Given the description of an element on the screen output the (x, y) to click on. 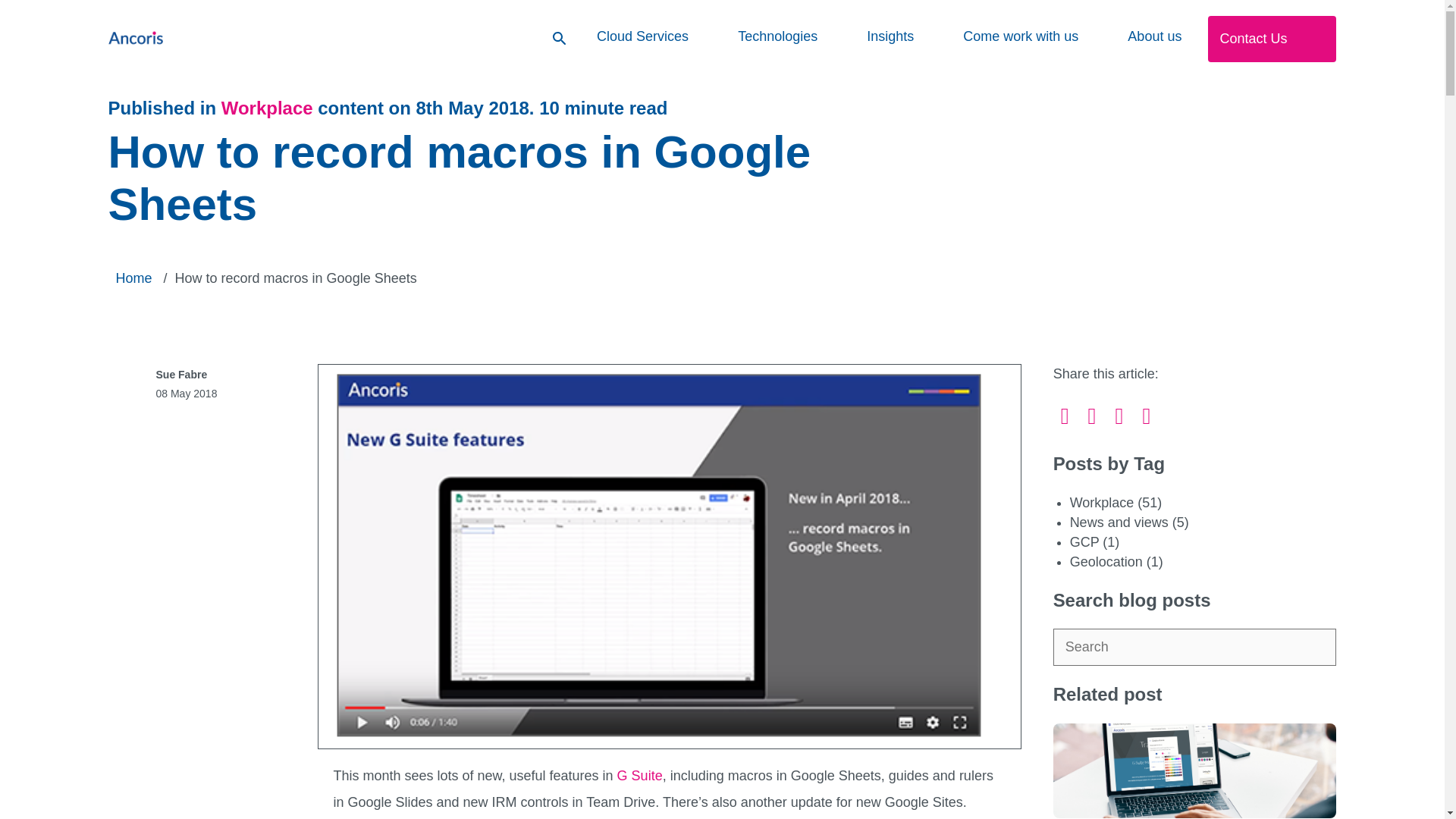
Workplace (267, 107)
Come work with us (1020, 36)
Contact Us (1272, 38)
Insights (890, 36)
Home (133, 278)
G Suite (639, 775)
About us (1153, 36)
Cloud Services (642, 36)
Technologies (777, 36)
Sue Fabre (181, 374)
